Given the description of an element on the screen output the (x, y) to click on. 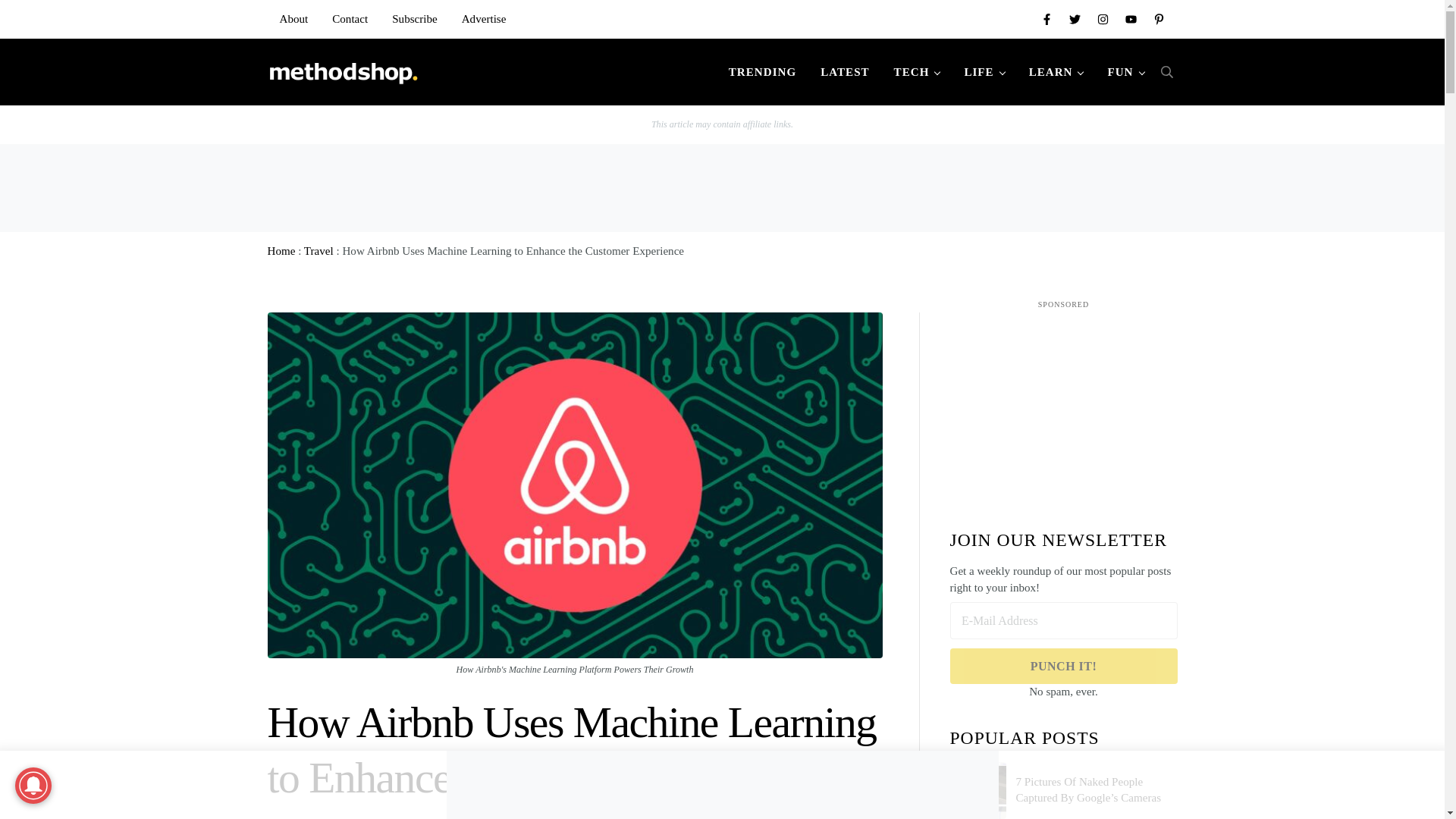
Subscribe (414, 18)
Punch It! (1062, 665)
LEARN (1056, 71)
LATEST (844, 71)
LIFE (984, 71)
TECH (917, 71)
TRENDING (762, 71)
About (293, 18)
Advertise (483, 18)
Contact (350, 18)
